Given the description of an element on the screen output the (x, y) to click on. 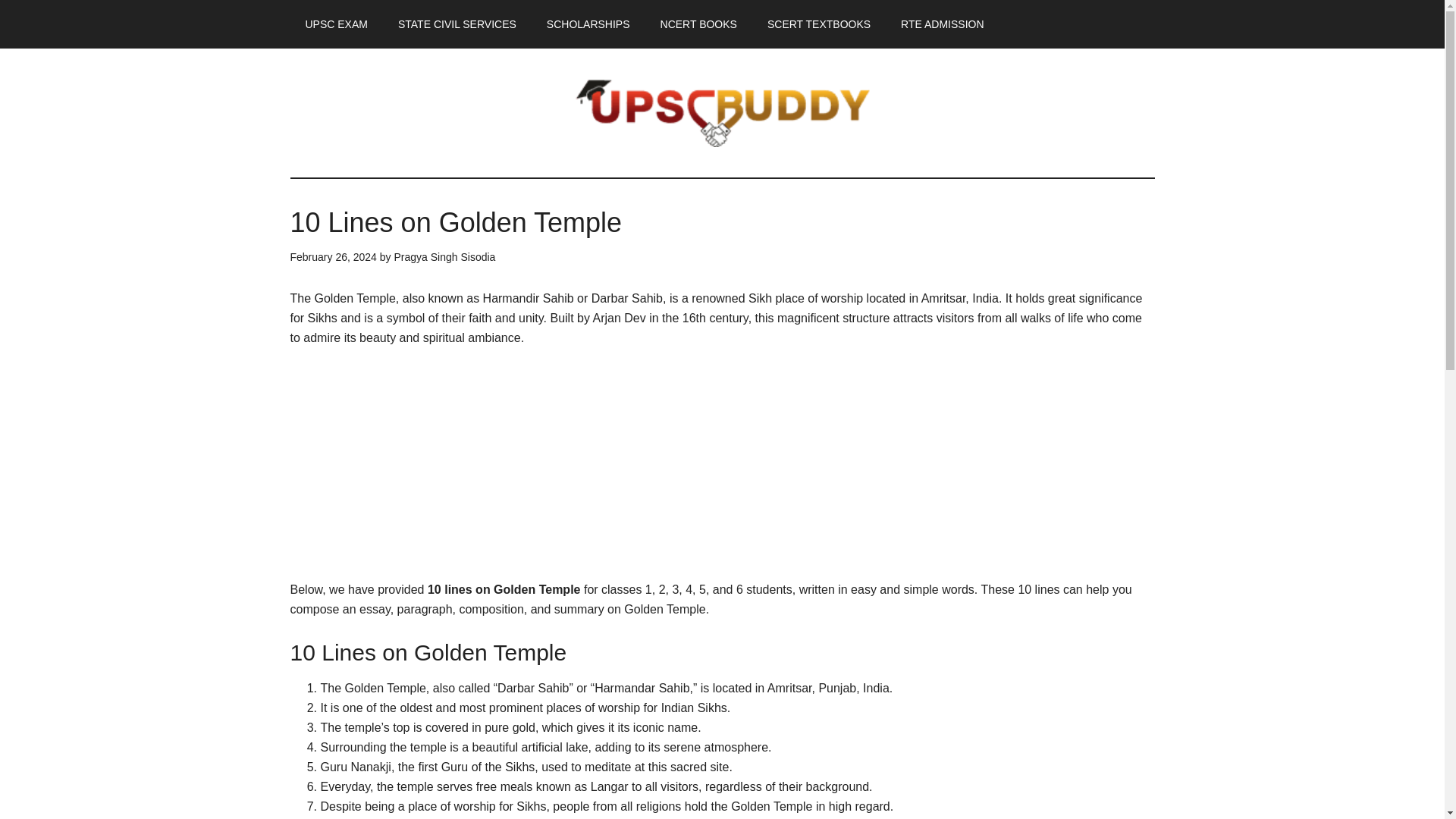
NCERT BOOKS (698, 24)
UPSC EXAM (335, 24)
SCERT TEXTBOOKS (818, 24)
STATE CIVIL SERVICES (456, 24)
RTE ADMISSION (941, 24)
UPSC Buddy (721, 112)
SCHOLARSHIPS (588, 24)
